Given the description of an element on the screen output the (x, y) to click on. 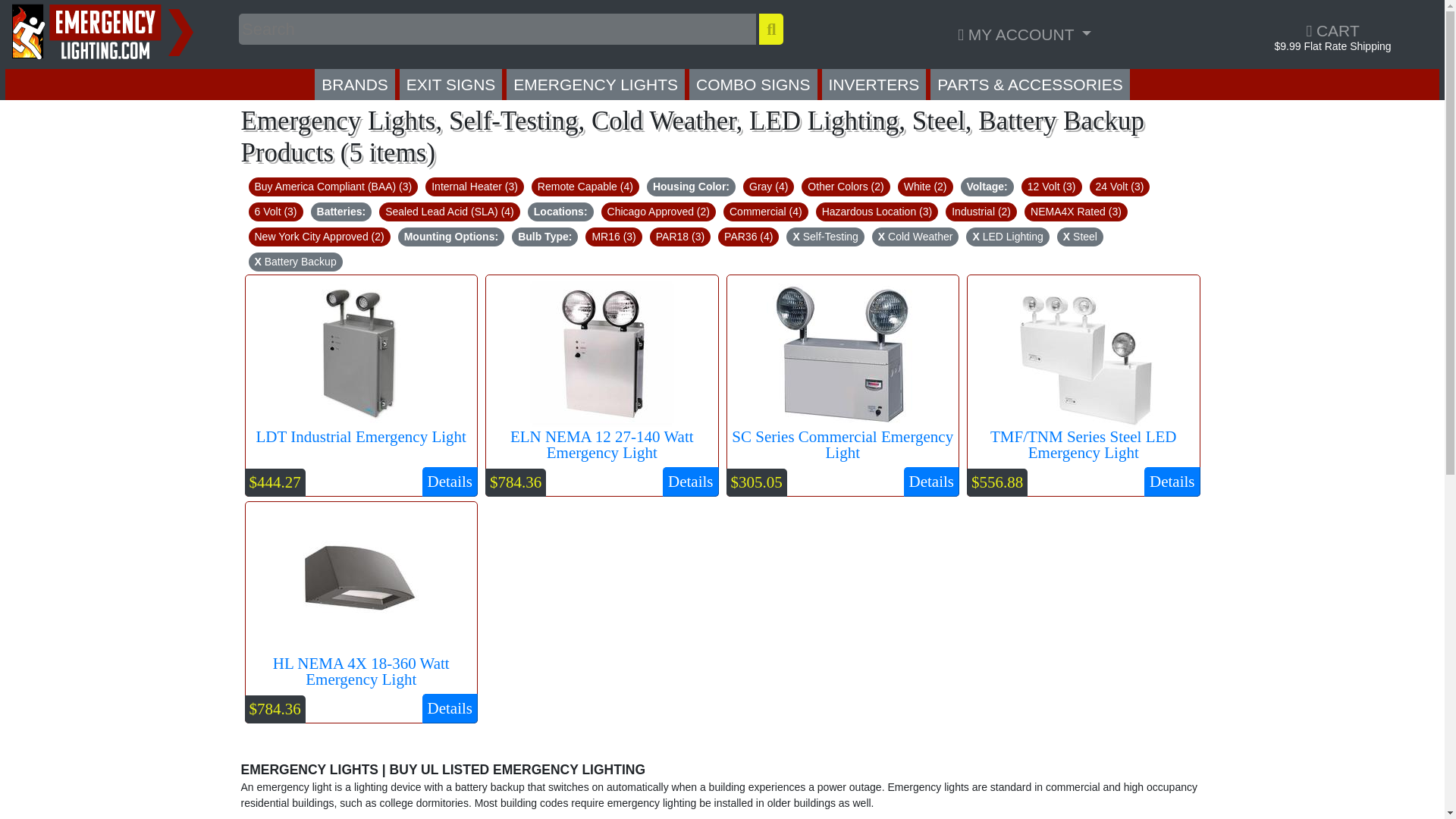
Details (449, 481)
BRANDS (354, 83)
Details (931, 481)
Details (689, 481)
 CART (1332, 30)
 MY ACCOUNT (1024, 33)
Details (449, 707)
Details (1171, 481)
EXIT SIGNS (450, 83)
